Given the description of an element on the screen output the (x, y) to click on. 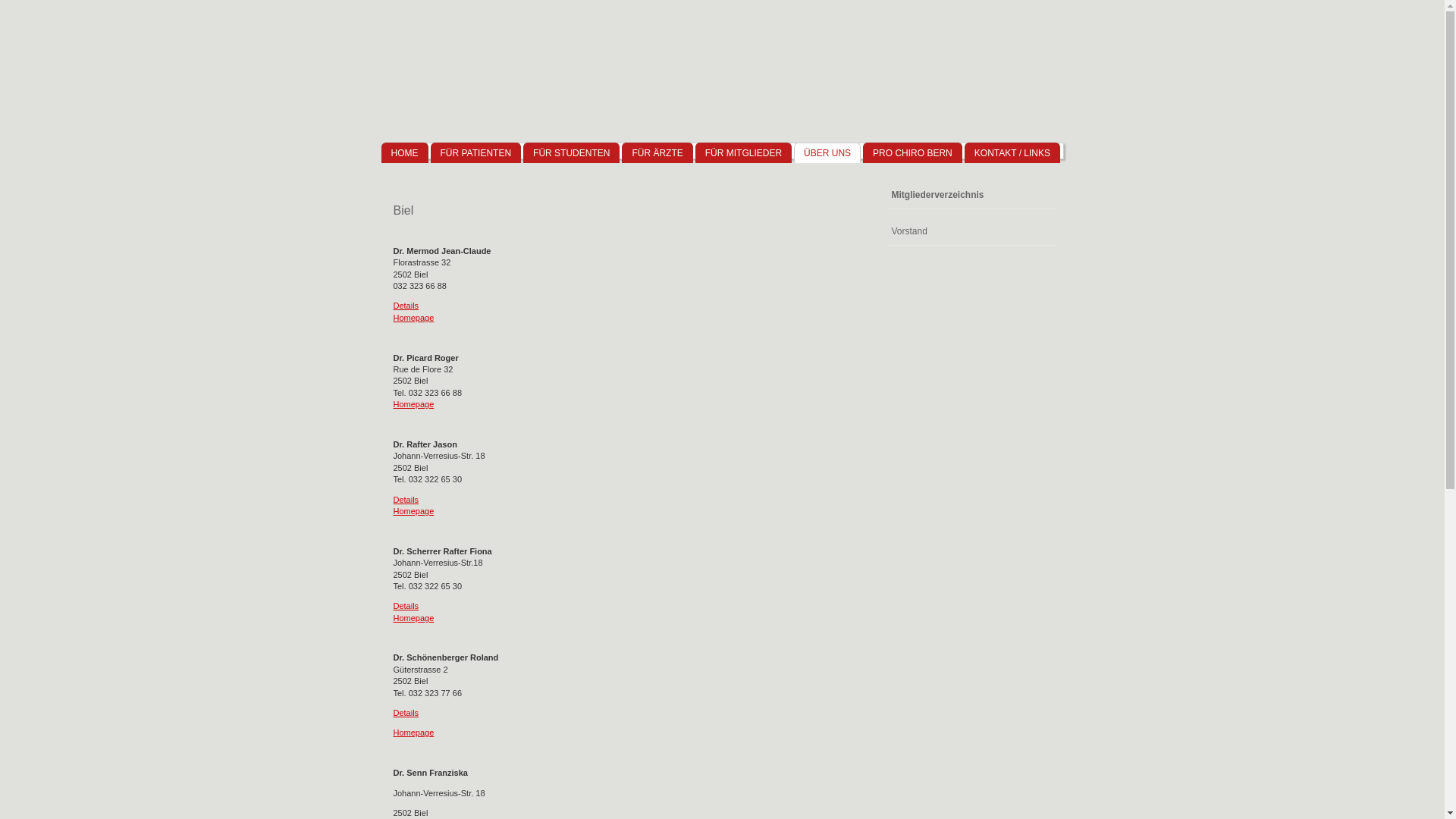
KONTAKT / LINKS Element type: text (1012, 152)
PRO CHIRO BERN Element type: text (912, 152)
Homepage Element type: text (412, 732)
Mitgliederverzeichnis Element type: text (971, 195)
Homepage Element type: text (412, 317)
Details Element type: text (405, 712)
Homepage Element type: text (412, 617)
Homepage Element type: text (412, 510)
Vorstand Element type: text (971, 231)
Details Element type: text (405, 499)
HOME Element type: text (403, 152)
Homepage Element type: text (412, 403)
Details Element type: text (405, 305)
Details Element type: text (405, 605)
